Given the description of an element on the screen output the (x, y) to click on. 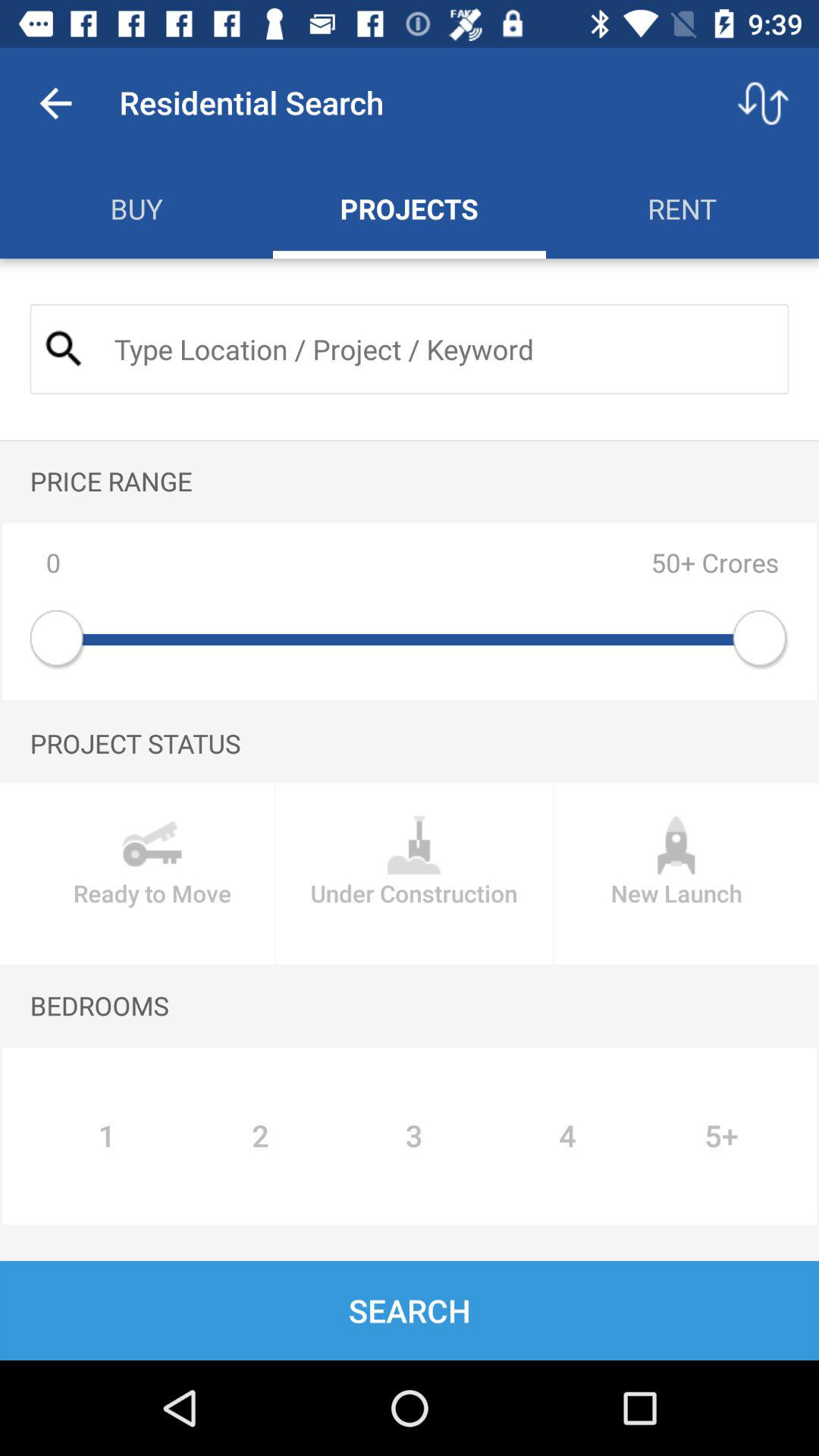
tap the 3 item (413, 1135)
